Given the description of an element on the screen output the (x, y) to click on. 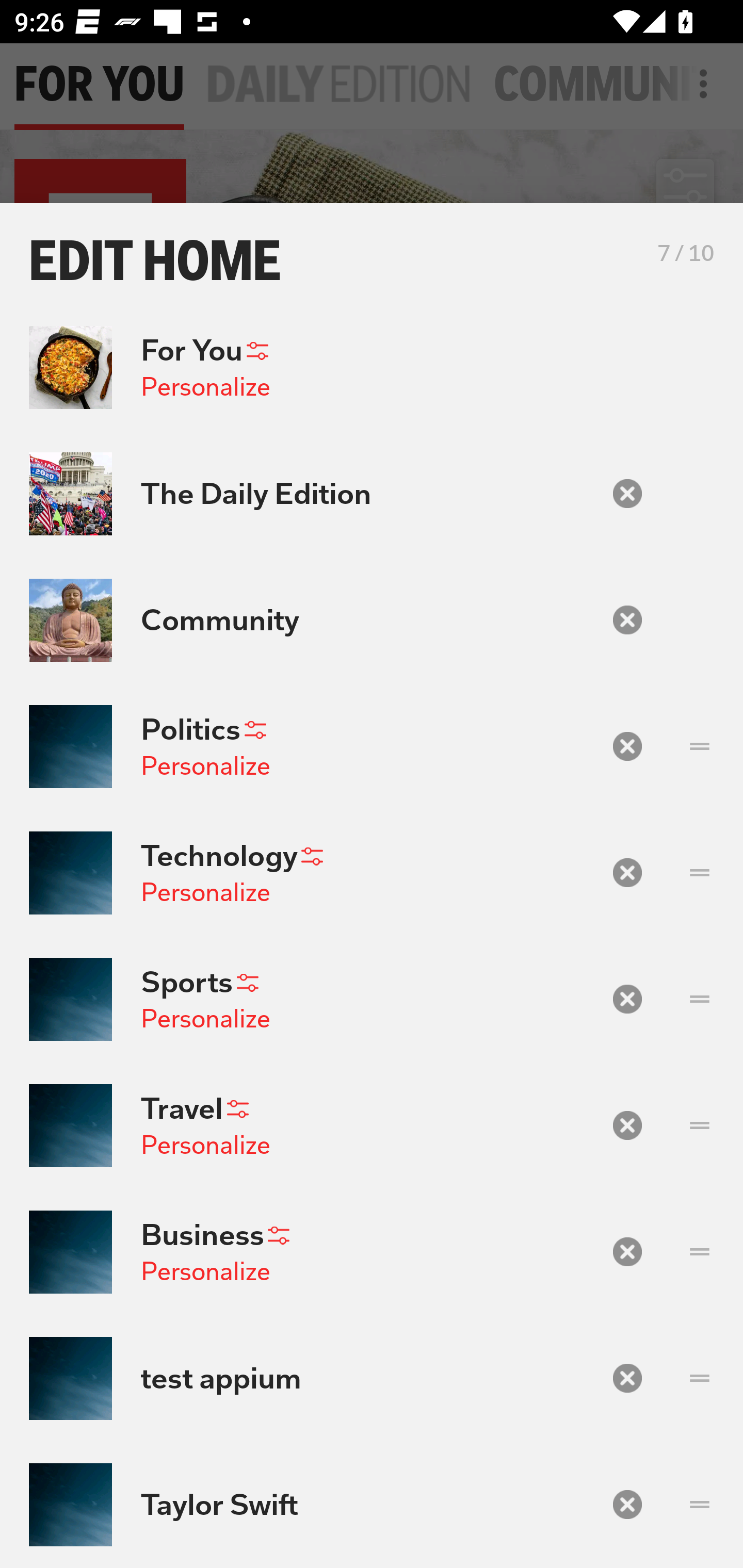
Personalize (205, 387)
Personalize (205, 765)
Personalize (205, 891)
Personalize (205, 1018)
Personalize (205, 1144)
Personalize (205, 1271)
